Given the description of an element on the screen output the (x, y) to click on. 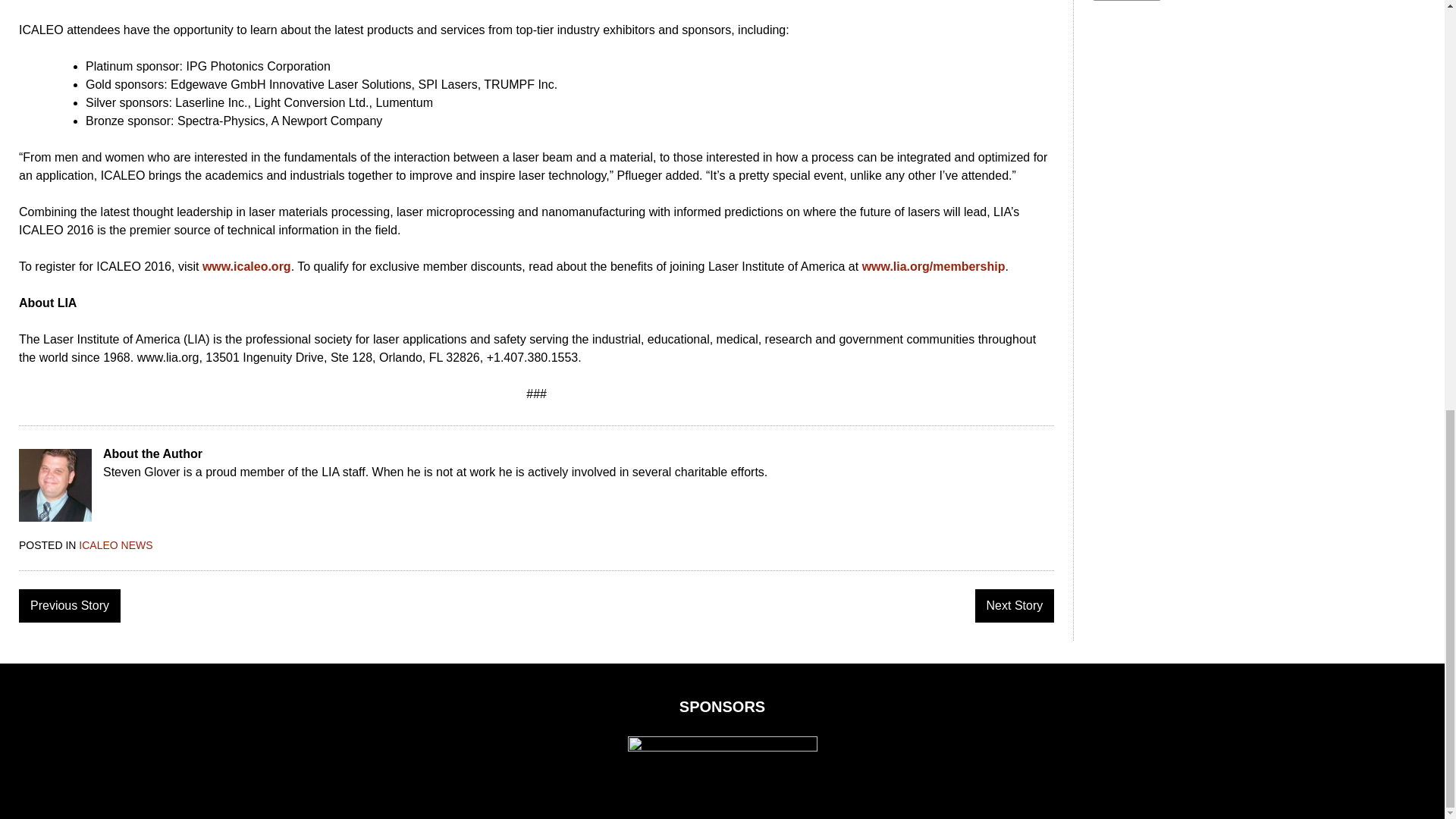
Previous Story (69, 605)
www.icaleo.org (246, 266)
Next Story (1014, 605)
ICALEO NEWS (115, 544)
Subscribe (1126, 0)
